Given the description of an element on the screen output the (x, y) to click on. 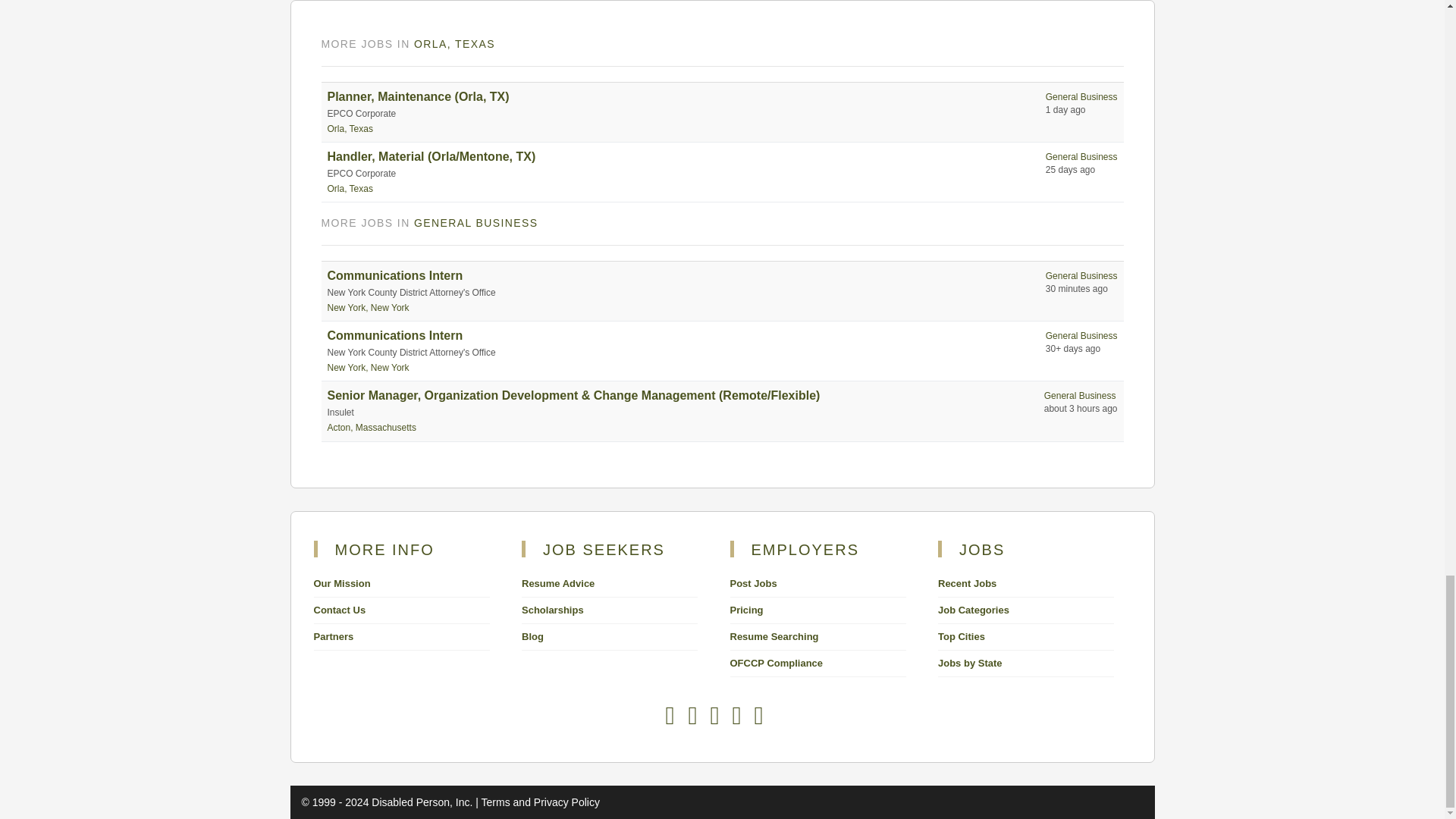
Post Jobs (752, 583)
Our Mission (342, 583)
Pricing (745, 609)
Resume Searching (773, 636)
Blog (532, 636)
Resume Advice (557, 583)
New York, New York (368, 307)
Communications Intern (395, 335)
ORLA, TEXAS (454, 43)
Acton, Massachusetts (371, 427)
General Business (1081, 96)
Contact Us (340, 609)
Scholarships (552, 609)
General Business (1081, 156)
OFCCP Compliance (775, 663)
